Given the description of an element on the screen output the (x, y) to click on. 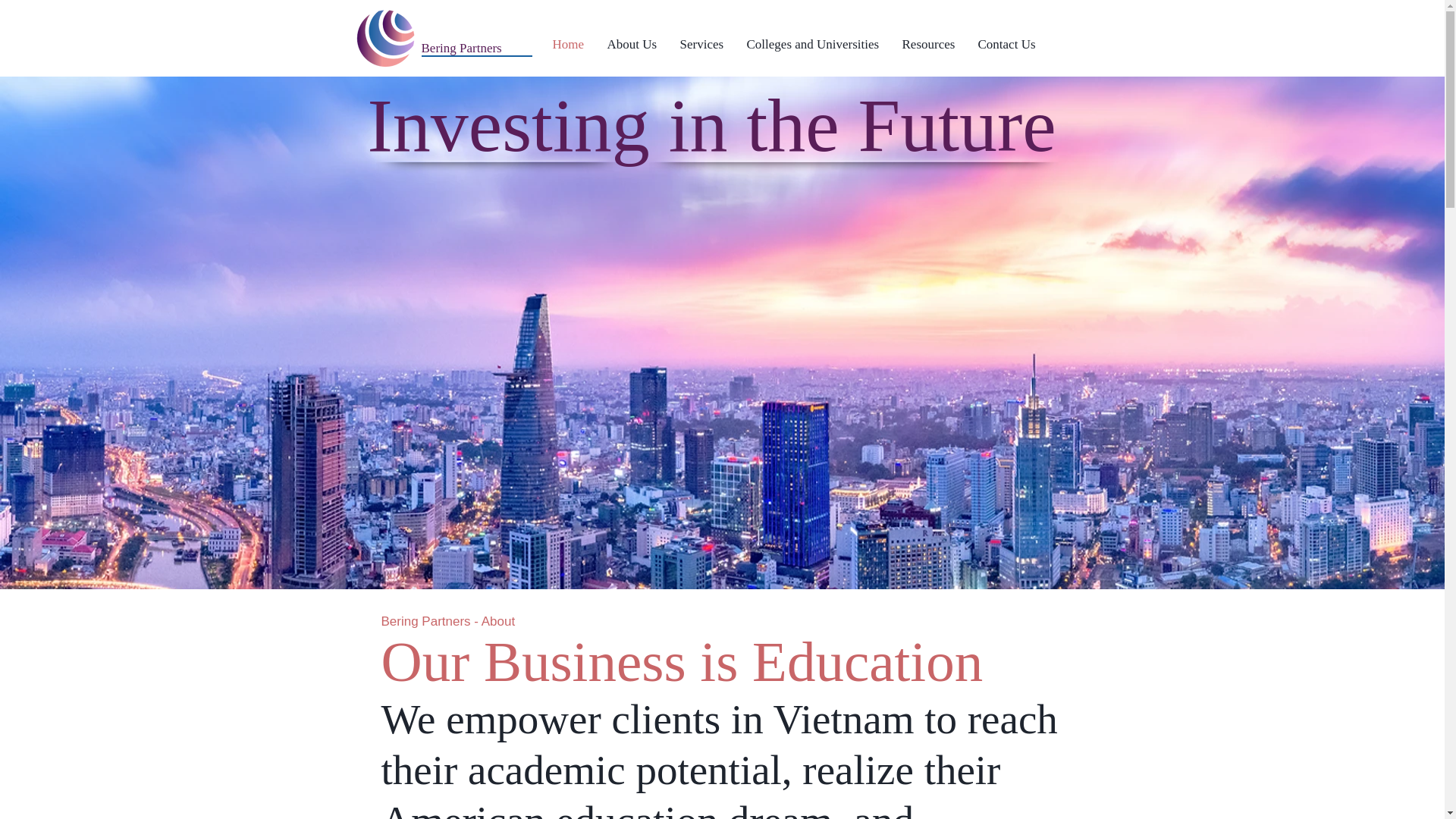
Colleges and Universities (813, 44)
Contact Us (1006, 44)
Home (568, 44)
About Us (631, 44)
Resources (927, 44)
Services (701, 44)
